Given the description of an element on the screen output the (x, y) to click on. 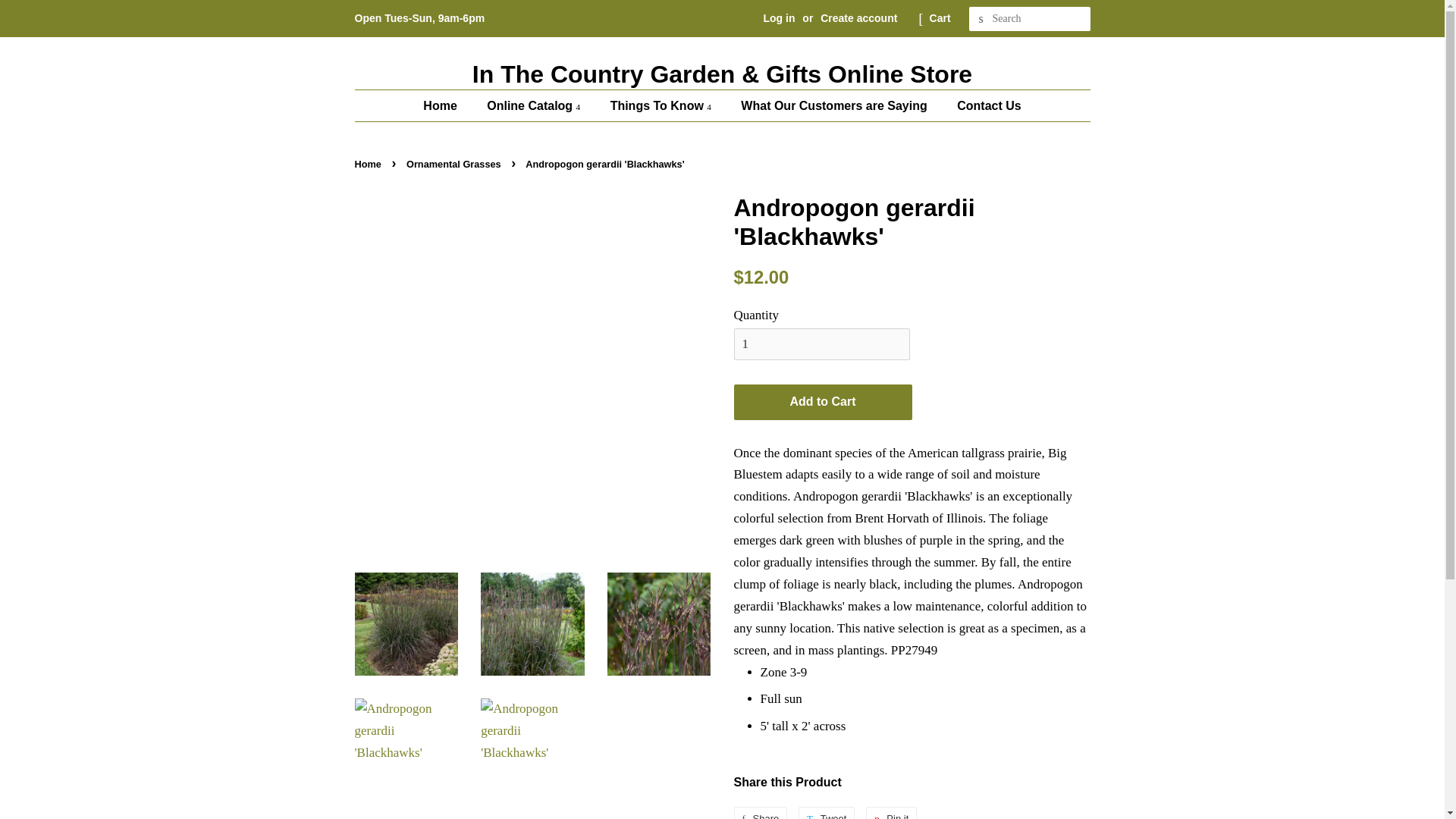
Pin on Pinterest (891, 812)
Log in (778, 18)
Share on Facebook (760, 812)
1 (821, 344)
Tweet on Twitter (825, 812)
Back to the frontpage (370, 163)
Search (980, 18)
Create account (858, 18)
Cart (940, 18)
